Given the description of an element on the screen output the (x, y) to click on. 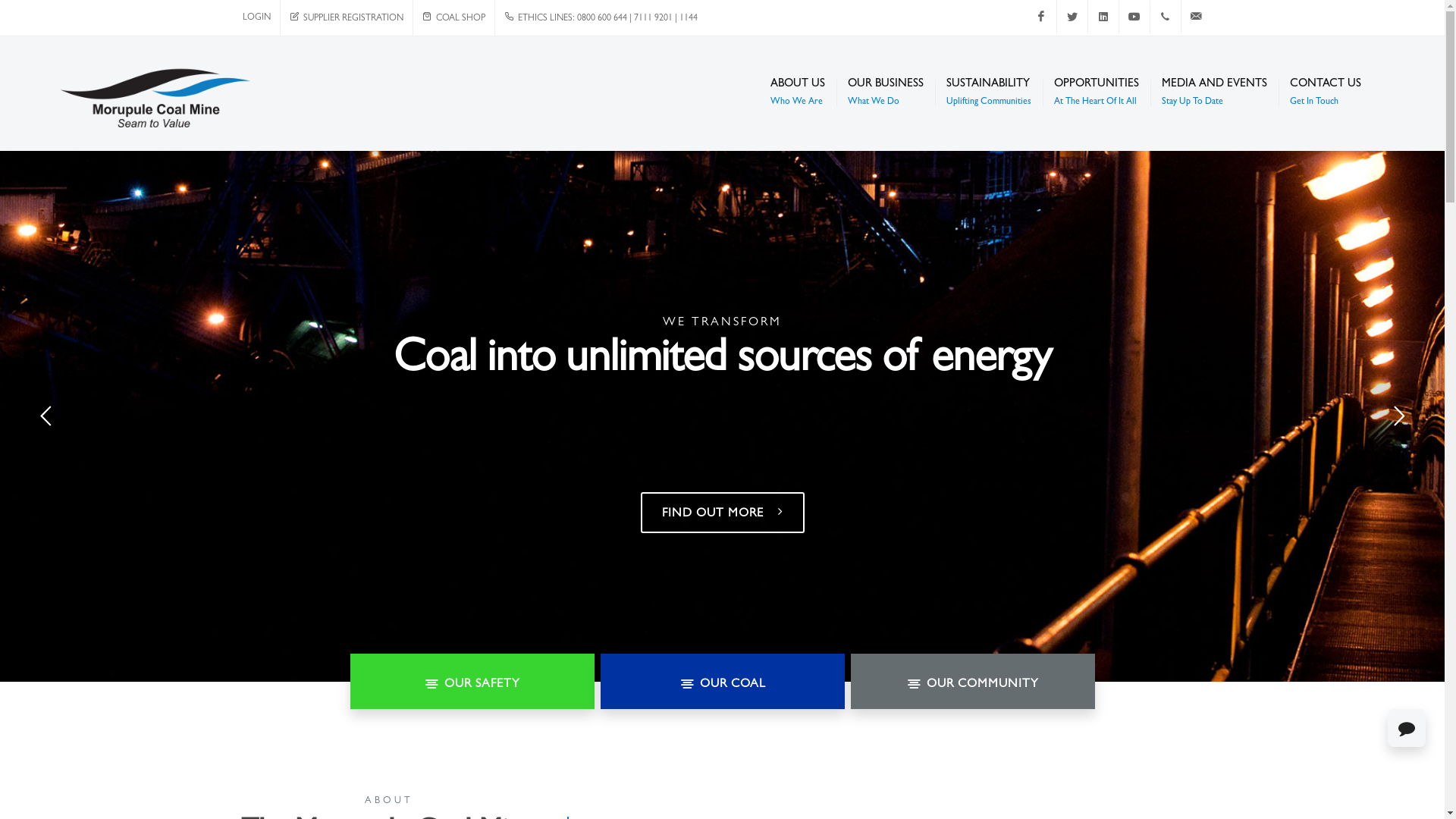
OUR BUSINESS
What We Do Element type: text (885, 93)
LOGIN Element type: text (256, 17)
  ETHICS LINES: 0800 600 644 | 7111 9201 | 1144 Element type: text (600, 17)
  COAL SHOP Element type: text (452, 17)
SUSTAINABILITY
Uplifting Communities Element type: text (988, 93)
OUR COMMUNITY Element type: text (972, 681)
OUR SAFETY Element type: text (472, 681)
MEDIA AND EVENTS
Stay Up To Date Element type: text (1214, 93)
  SUPPLIER REGISTRATION Element type: text (346, 17)
ABOUT US
Who We Are Element type: text (797, 93)
OUR COAL Element type: text (722, 681)
CONTACT US
Get In Touch Element type: text (1325, 93)
OPPORTUNITIES
At The Heart Of It All Element type: text (1096, 93)
